Given the description of an element on the screen output the (x, y) to click on. 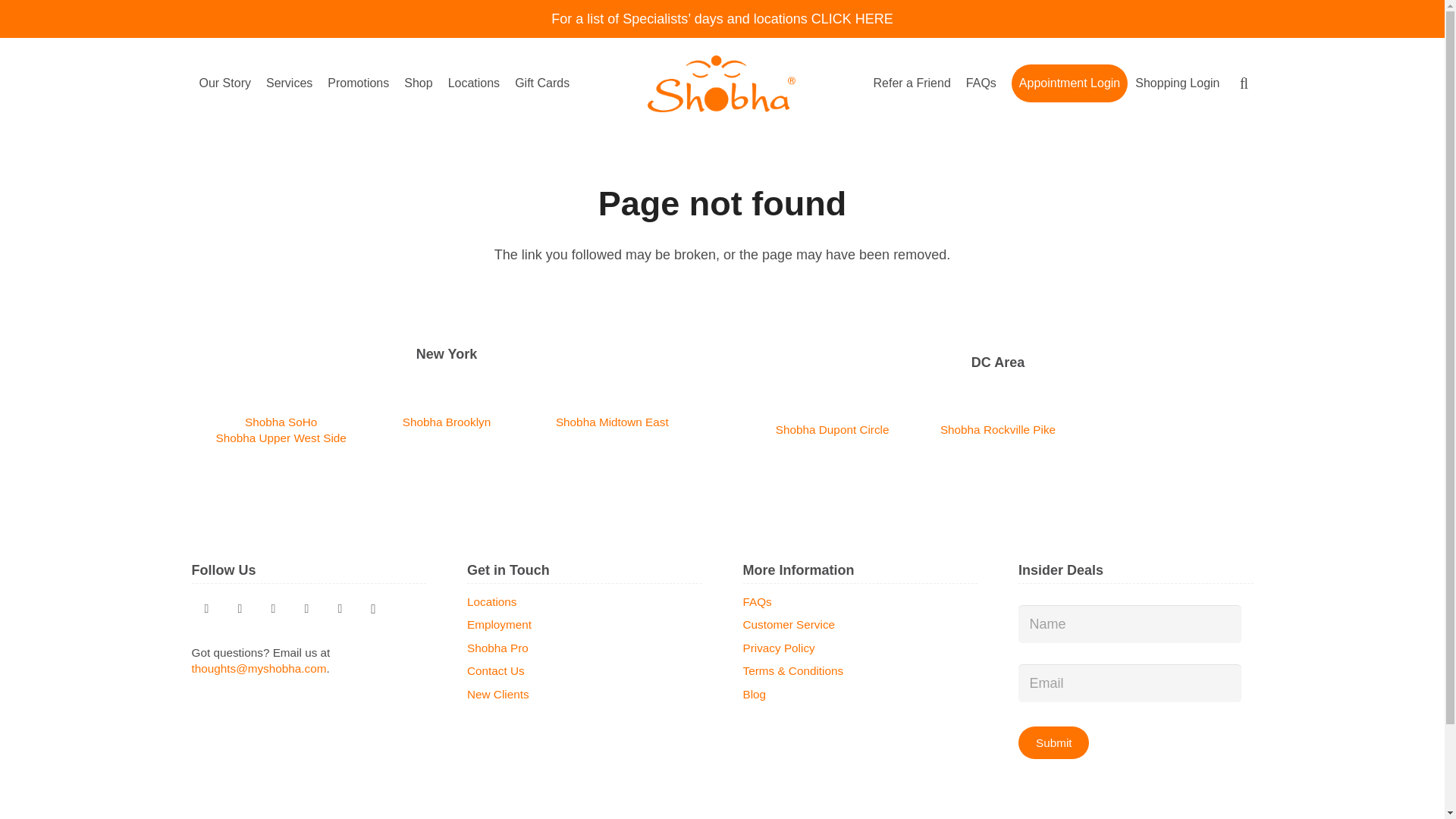
Services (289, 83)
Blog (272, 608)
Pinterest (239, 608)
Submit (1053, 742)
Promotions (358, 83)
Locations (474, 83)
Instagram (373, 608)
Facebook (339, 608)
FAQs (981, 83)
Shop (417, 83)
YouTube (306, 608)
Welcome to Shobha! (1266, 419)
Twitter (205, 608)
Refer a Friend (912, 83)
Gift Cards (541, 83)
